Given the description of an element on the screen output the (x, y) to click on. 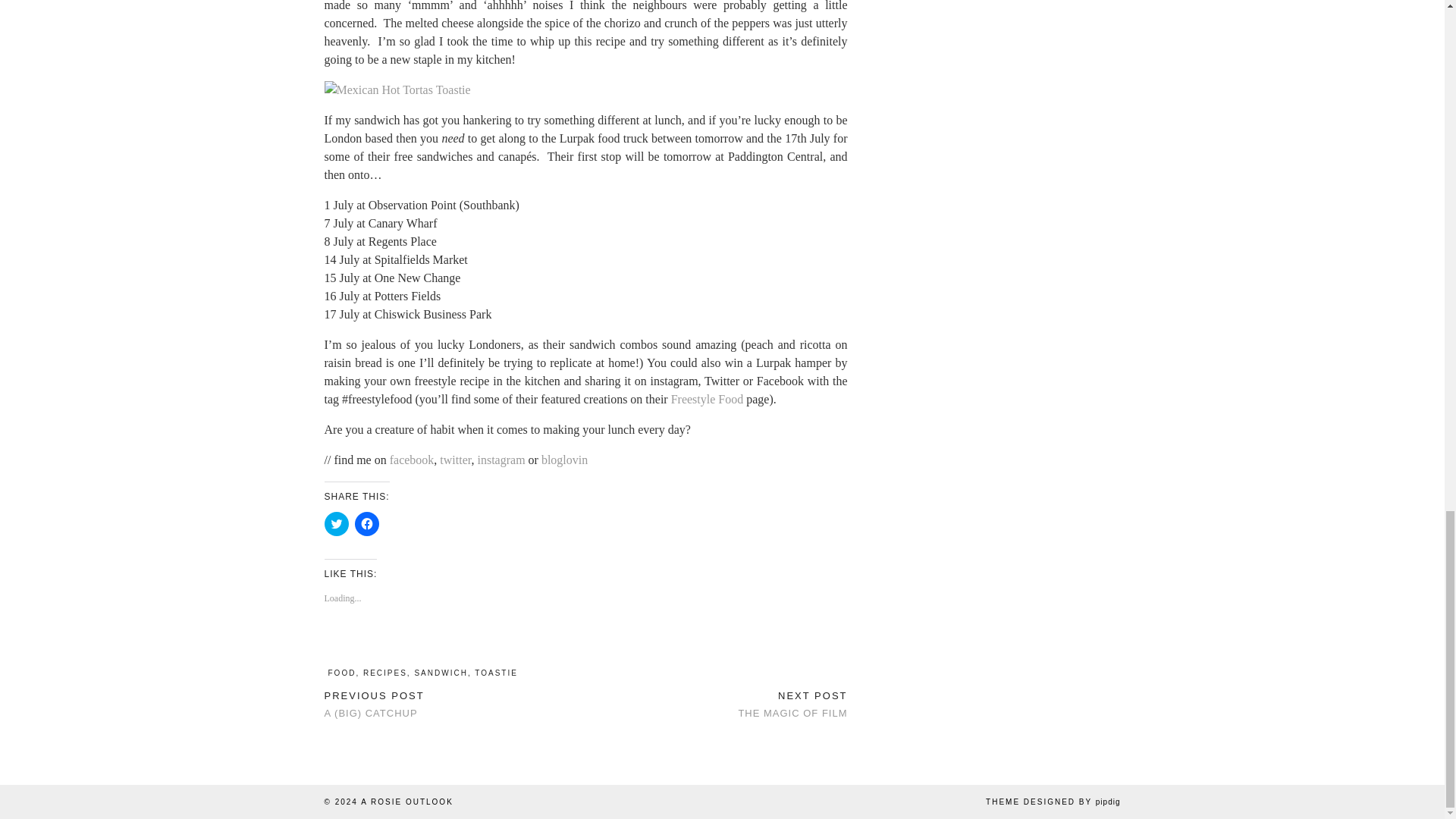
Freestyle Food (707, 399)
RECIPES (384, 673)
SANDWICH (440, 673)
facebook (411, 459)
FOOD (341, 673)
instagram (500, 459)
twitter (454, 459)
bloglovin (564, 459)
Mexican Hot Tortas Toastie by rosietapping, on Flickr (397, 89)
TOASTIE (496, 673)
